Given the description of an element on the screen output the (x, y) to click on. 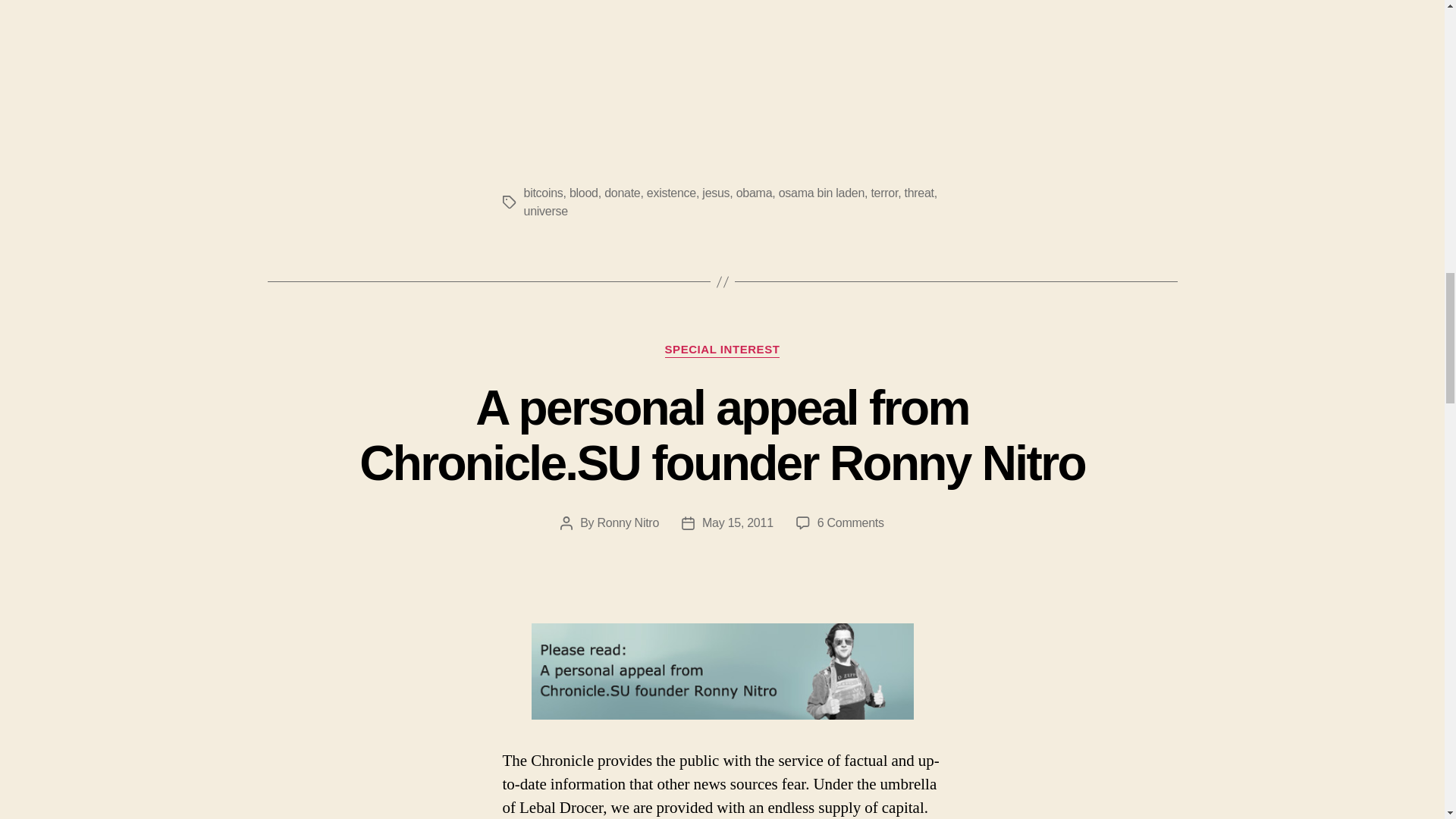
jesus (715, 192)
May 15, 2011 (737, 522)
terror (884, 192)
existence (670, 192)
donate (622, 192)
threat (918, 192)
obama (754, 192)
Ronny Nitro (627, 522)
osama bin laden (821, 192)
